Given the description of an element on the screen output the (x, y) to click on. 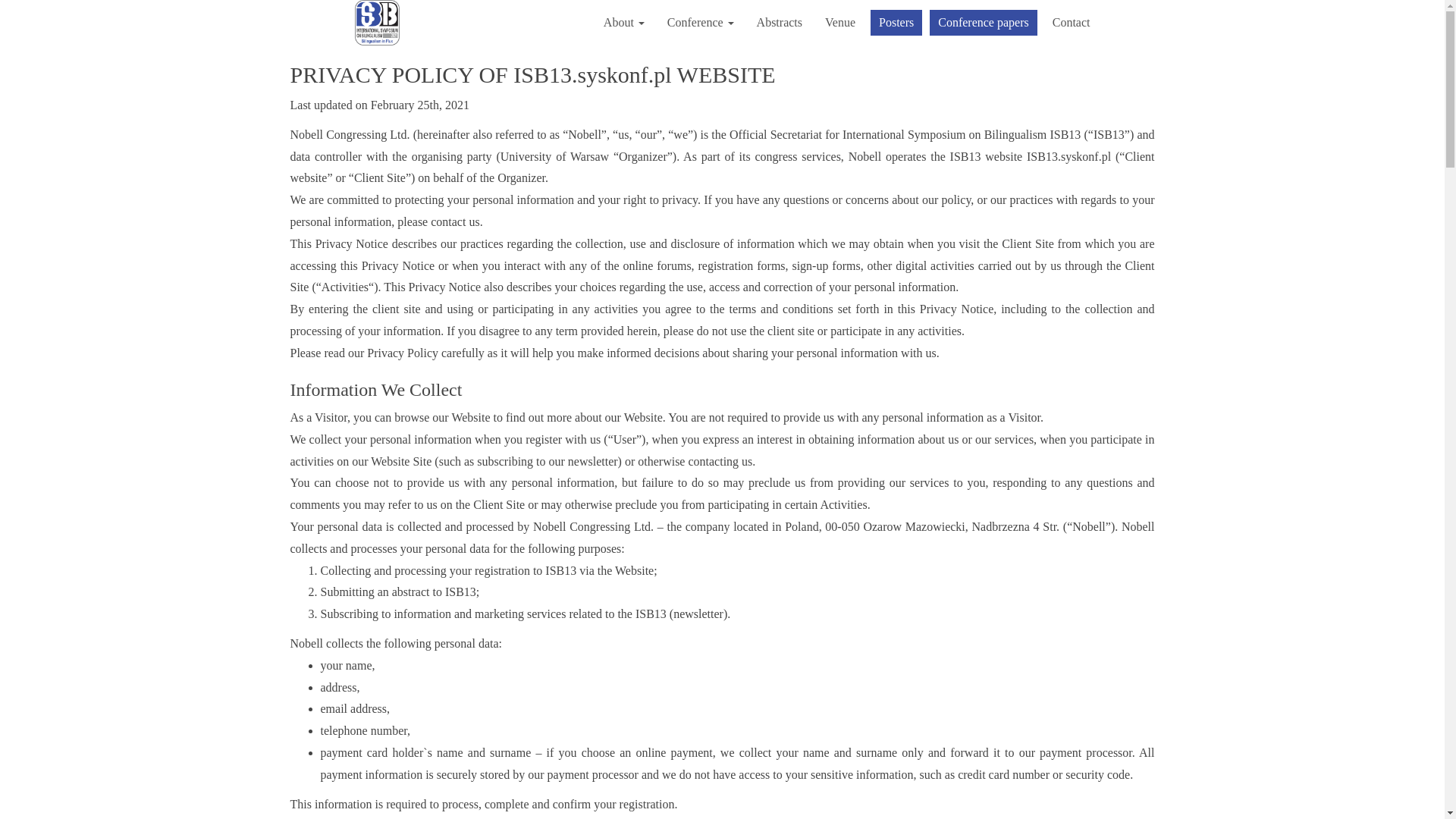
Conference  (700, 22)
Venue (839, 22)
Abstracts (779, 22)
About  (624, 22)
Conference papers (983, 22)
Contact (1071, 22)
Posters (895, 22)
